Given the description of an element on the screen output the (x, y) to click on. 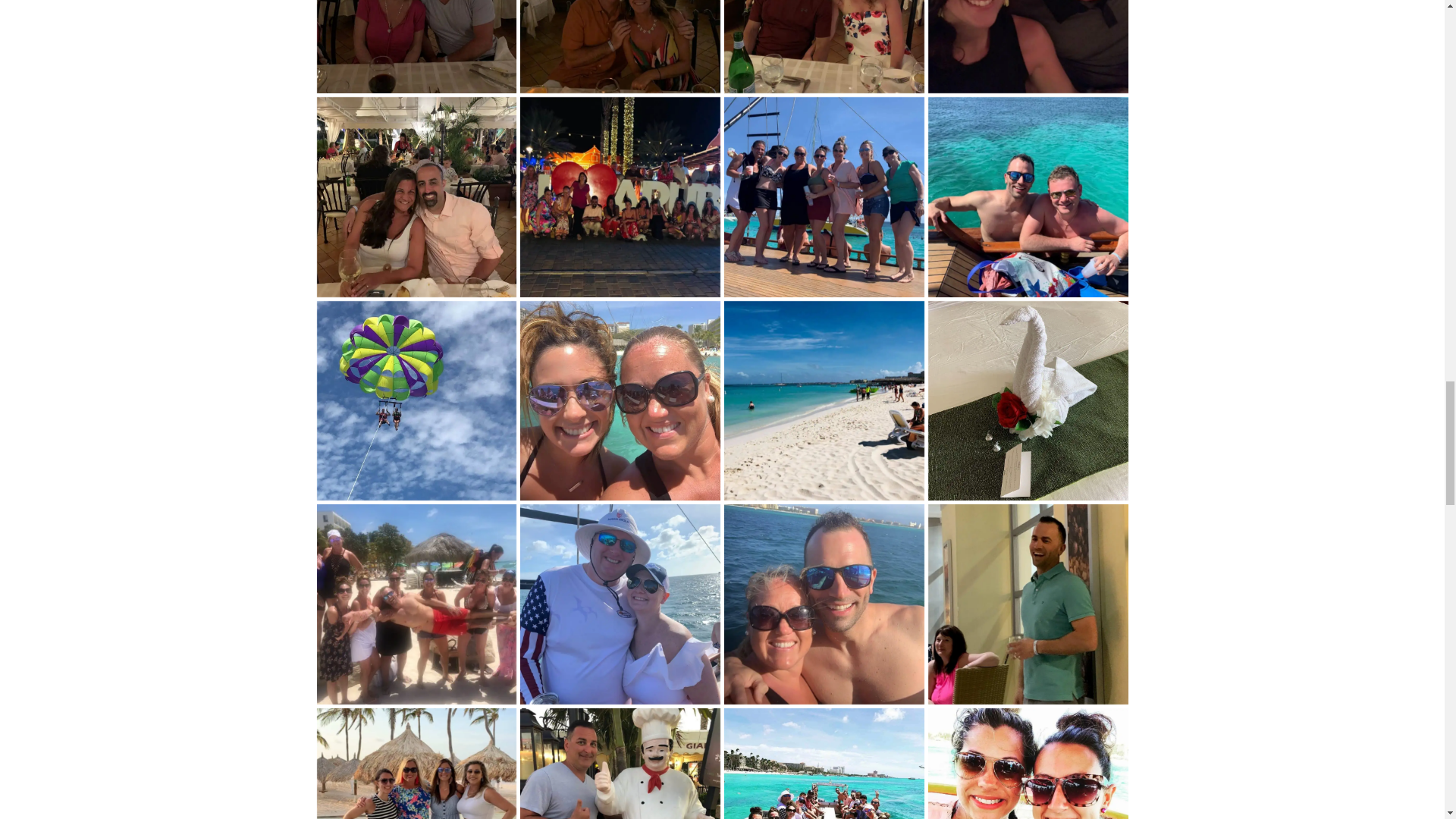
40 (416, 46)
38 (619, 46)
36 (823, 46)
